Given the description of an element on the screen output the (x, y) to click on. 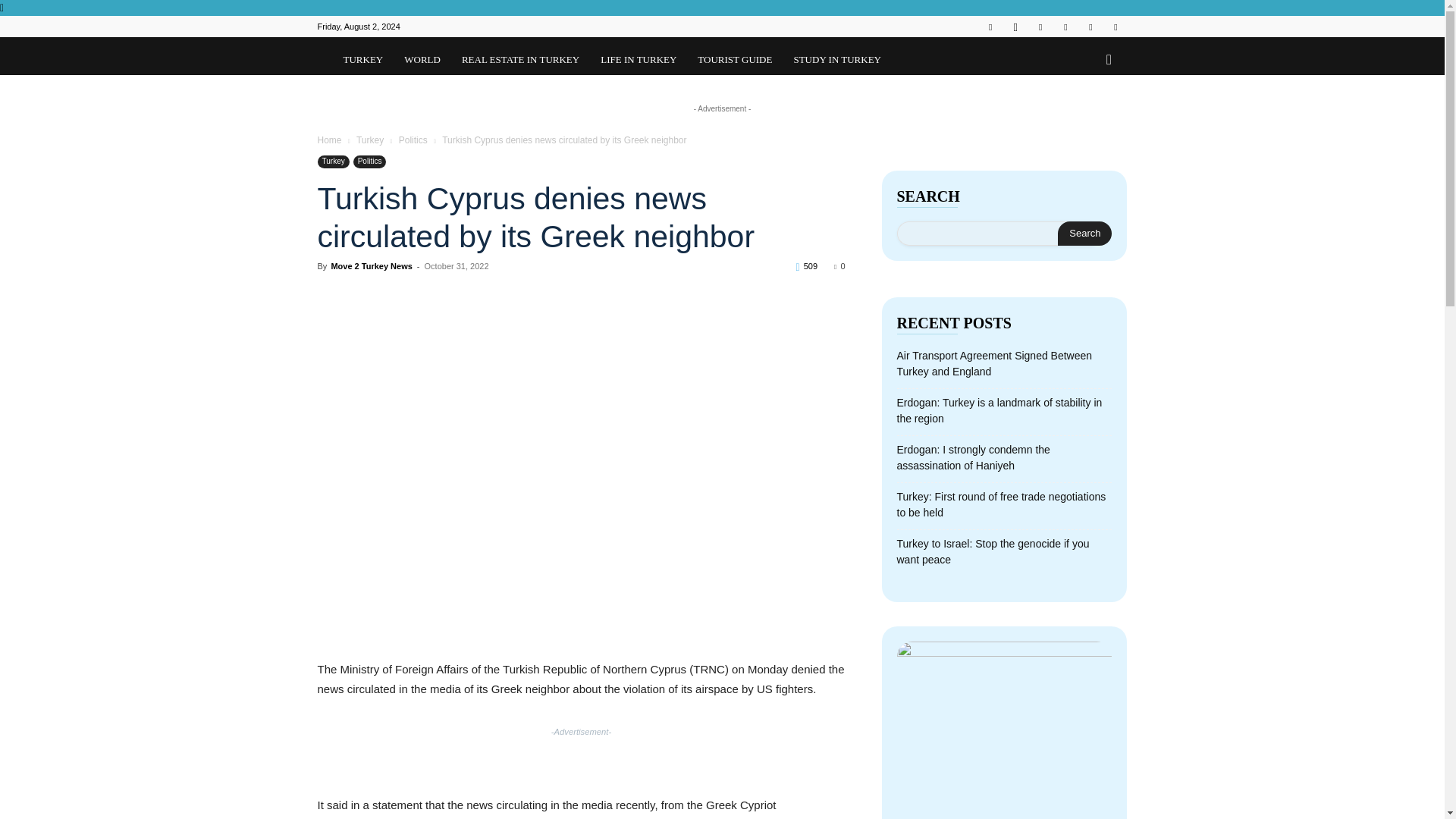
Twitter (1090, 25)
Facebook (989, 25)
Youtube (1114, 25)
Search (1085, 233)
Linkedin (1040, 25)
Pinterest (1065, 25)
Instagram (1015, 25)
TURKEY (362, 55)
